Given the description of an element on the screen output the (x, y) to click on. 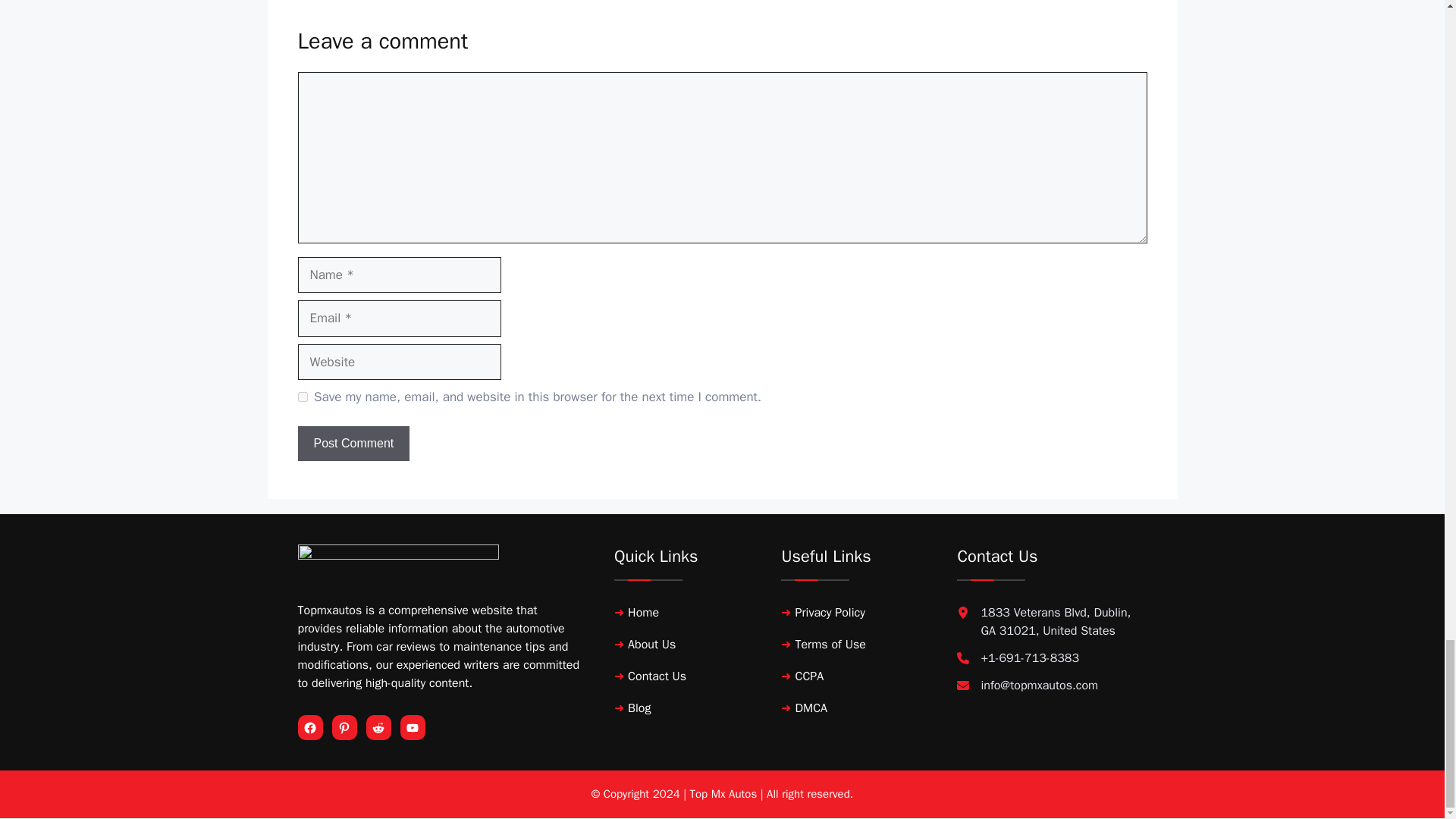
Home (643, 612)
Blog (638, 708)
Reddit (378, 727)
YouTube (411, 727)
Pinterest (343, 727)
About Us (651, 644)
Facebook (309, 727)
Contact Us (656, 676)
yes (302, 397)
Post Comment (353, 443)
